Given the description of an element on the screen output the (x, y) to click on. 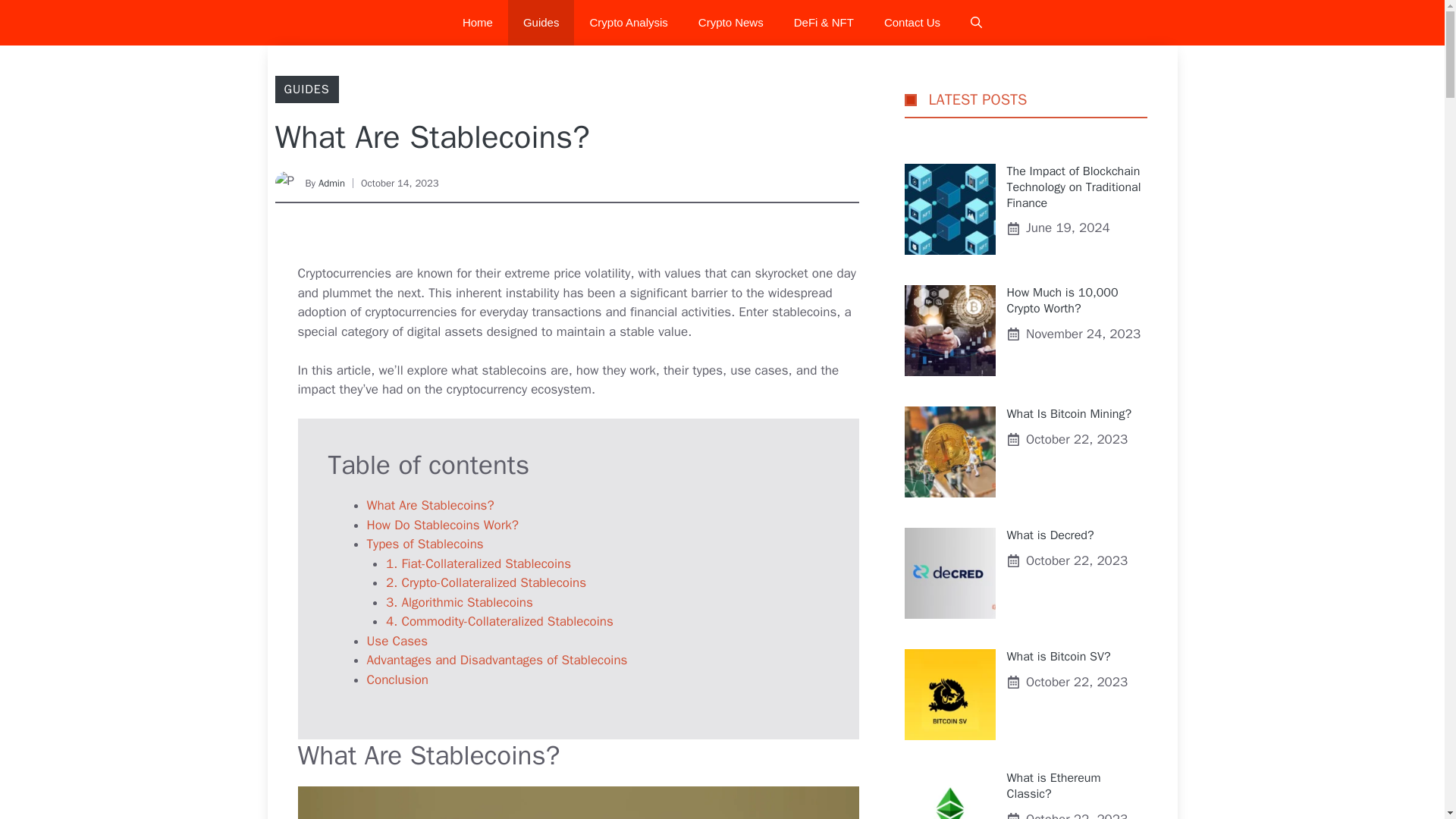
Guides (541, 22)
Admin (331, 182)
Crypto News (730, 22)
Use Cases (397, 641)
How Do Stablecoins Work? (442, 524)
Home (477, 22)
Crypto Analysis (627, 22)
Contact Us (912, 22)
2. Crypto-Collateralized Stablecoins (485, 582)
GUIDES (306, 89)
